Given the description of an element on the screen output the (x, y) to click on. 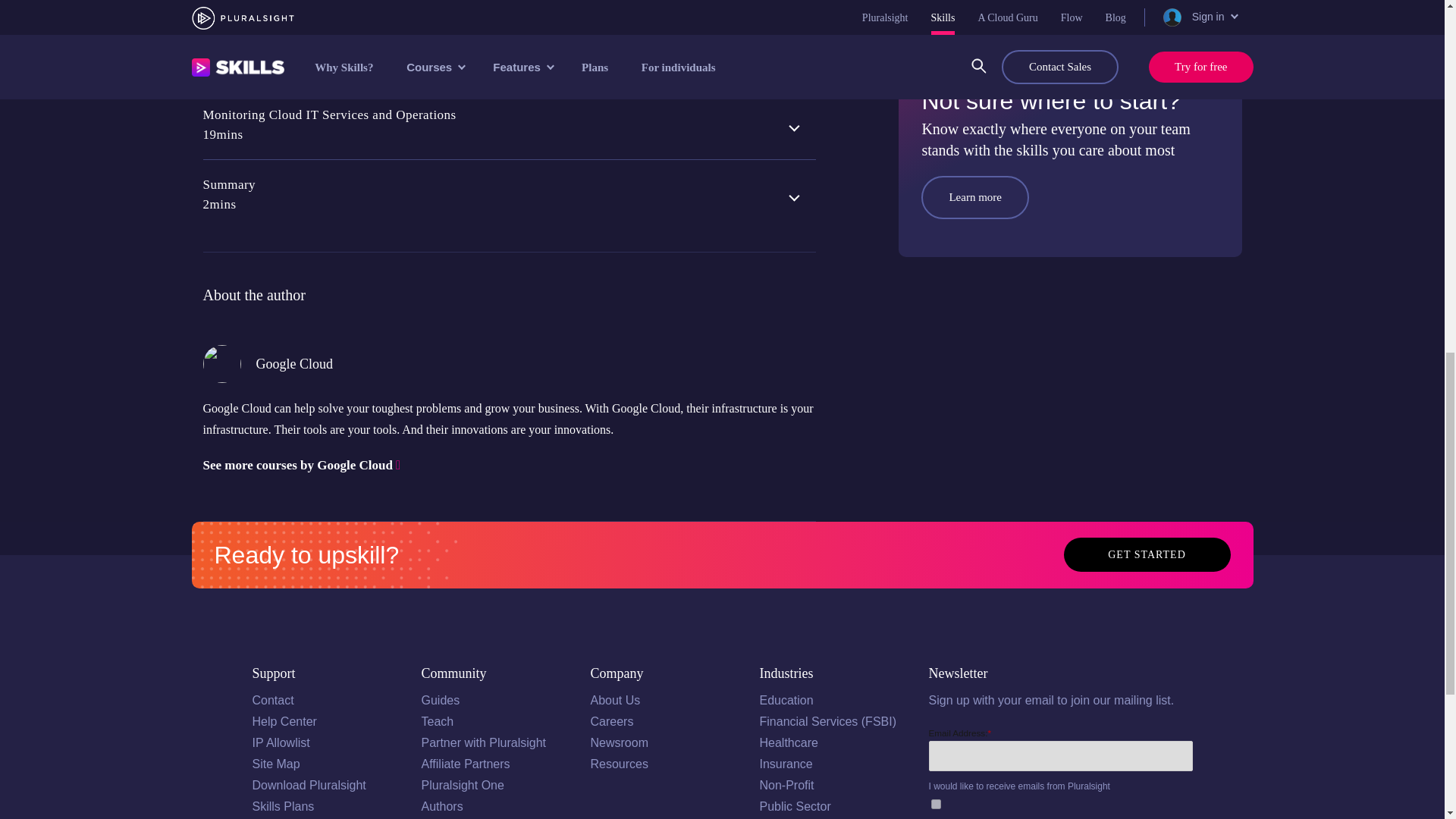
Get started (1146, 554)
yes (935, 804)
